Given the description of an element on the screen output the (x, y) to click on. 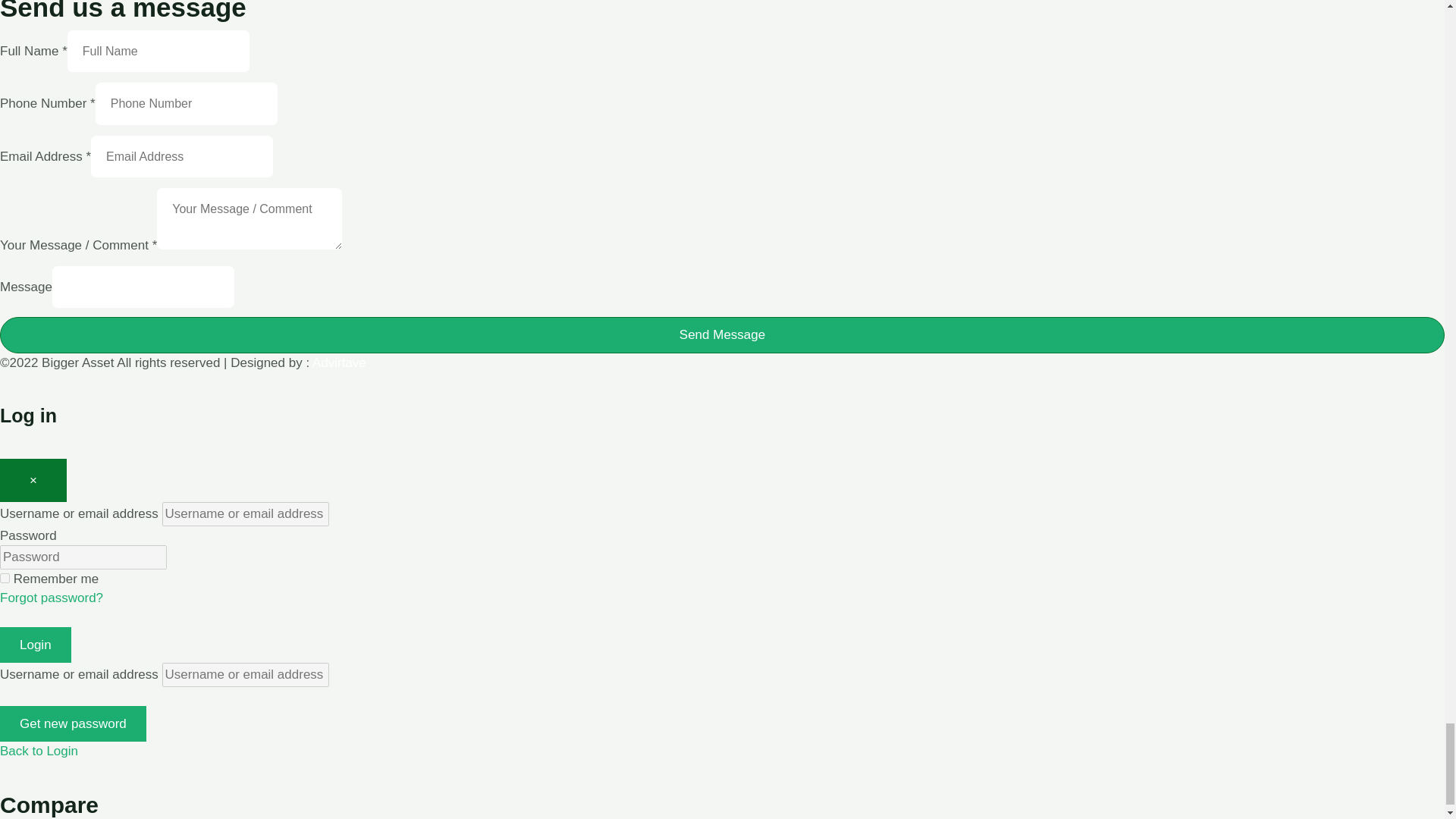
on (5, 578)
